Given the description of an element on the screen output the (x, y) to click on. 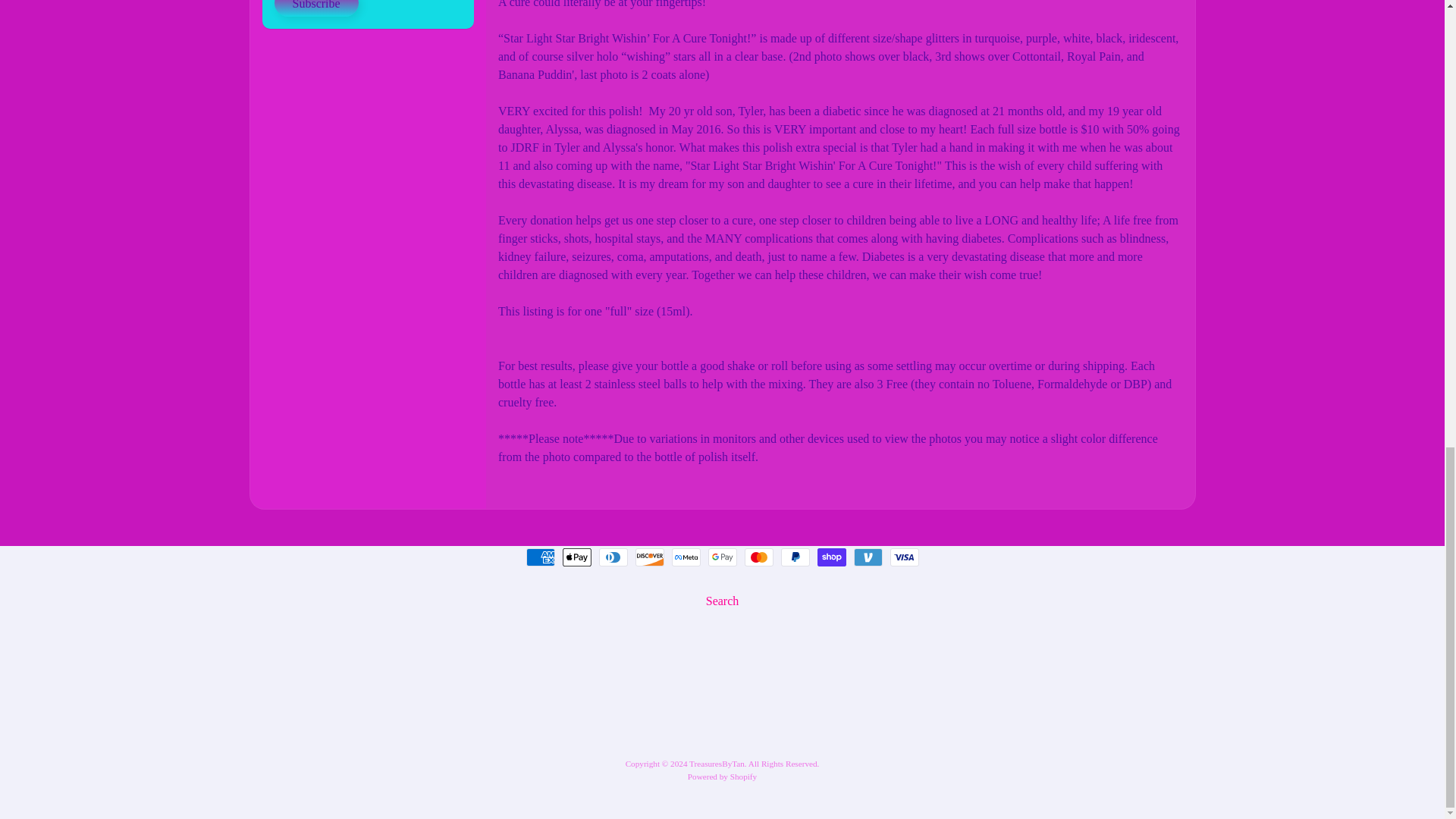
American Express (539, 556)
Meta Pay (685, 556)
Diners Club (612, 556)
PayPal (794, 556)
Google Pay (721, 556)
Apple Pay (576, 556)
Mastercard (758, 556)
Discover (648, 556)
Visa (903, 556)
Venmo (867, 556)
